Given the description of an element on the screen output the (x, y) to click on. 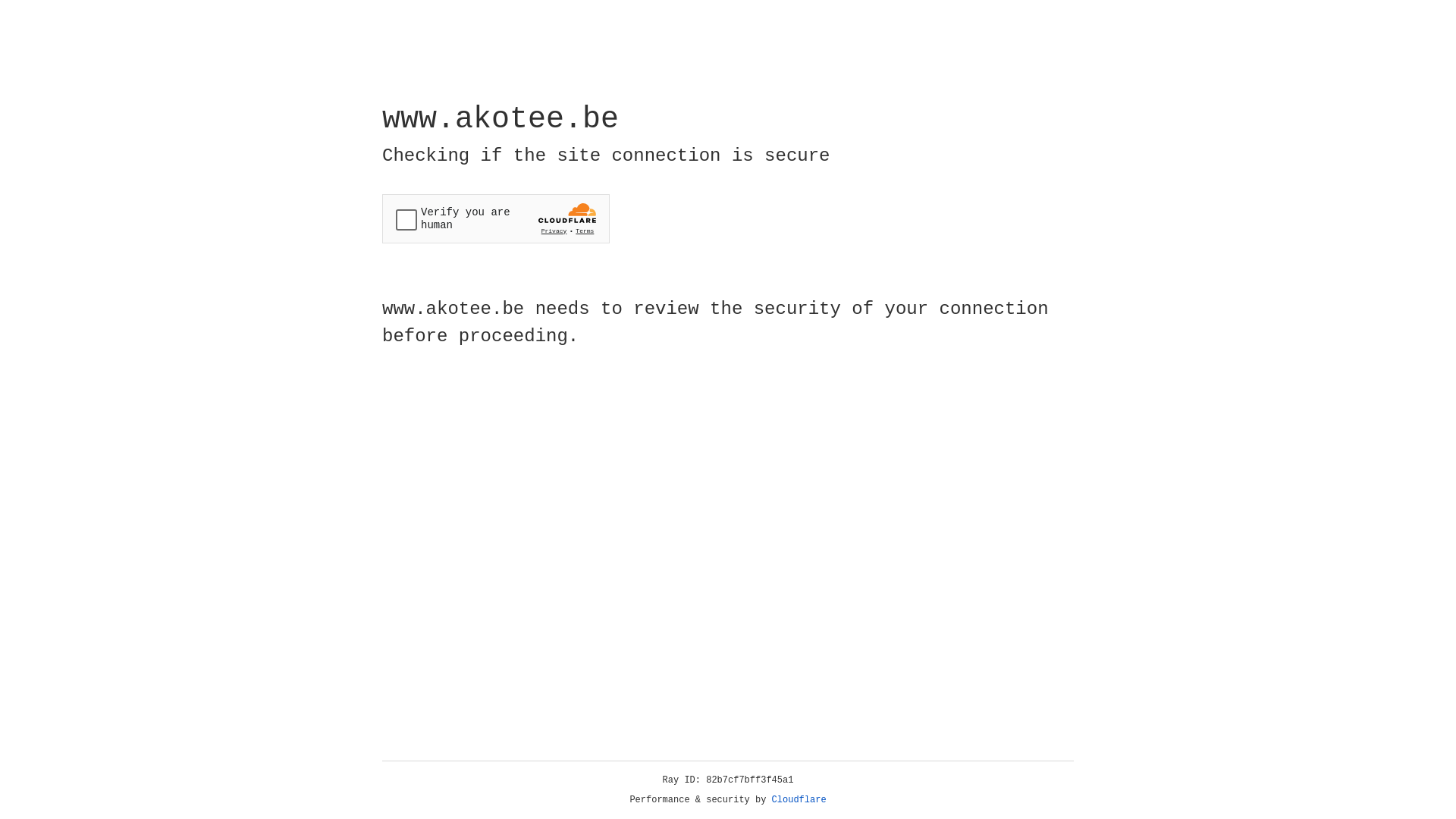
Cloudflare Element type: text (798, 799)
Widget containing a Cloudflare security challenge Element type: hover (495, 218)
